Given the description of an element on the screen output the (x, y) to click on. 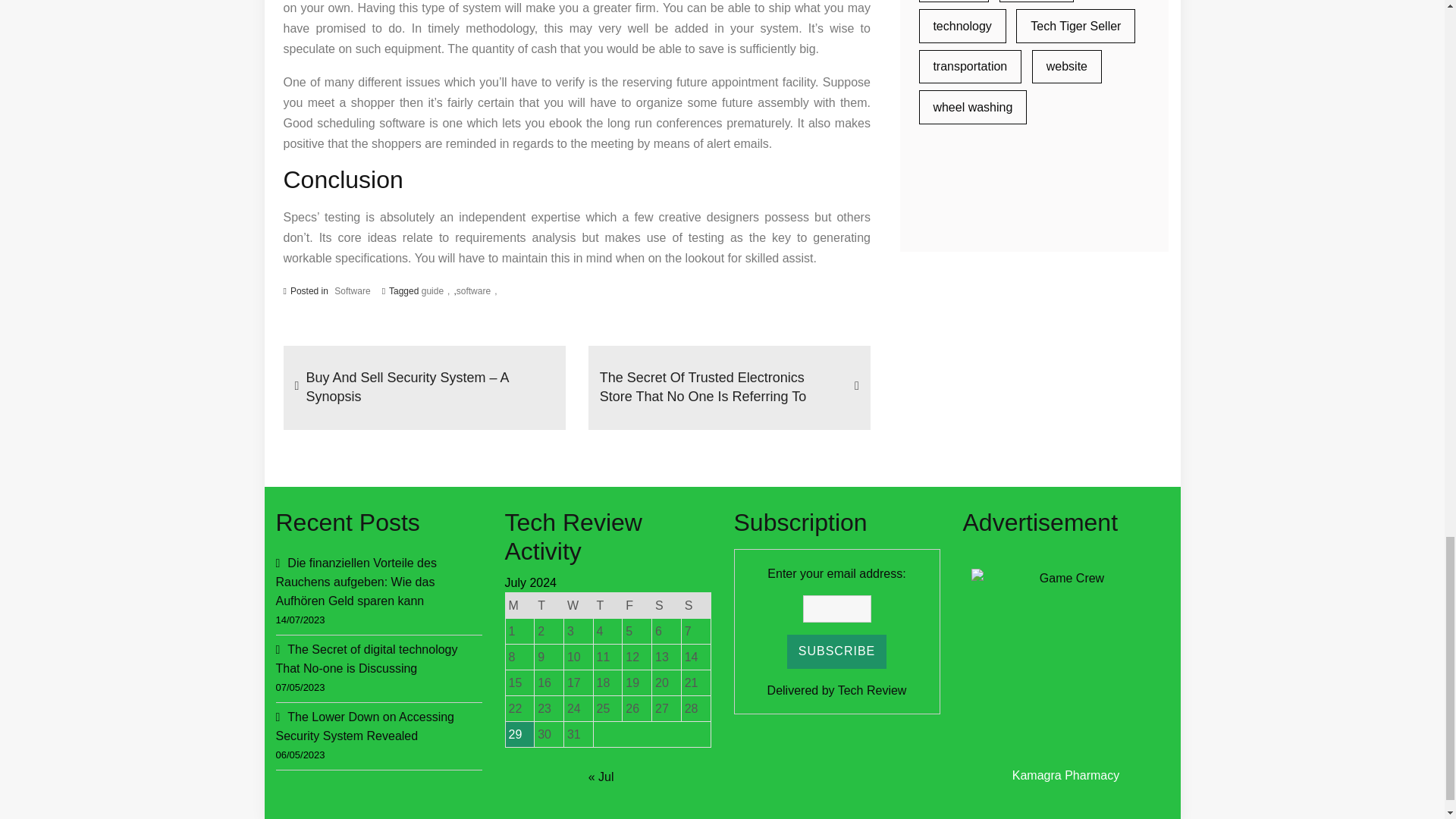
Game Crew (1065, 663)
Sunday (695, 605)
Saturday (666, 605)
Thursday (607, 605)
guide (435, 290)
Wednesday (577, 605)
Tuesday (549, 605)
Monday (519, 605)
Subscribe (836, 651)
Friday (637, 605)
software (477, 290)
Software (351, 291)
